Given the description of an element on the screen output the (x, y) to click on. 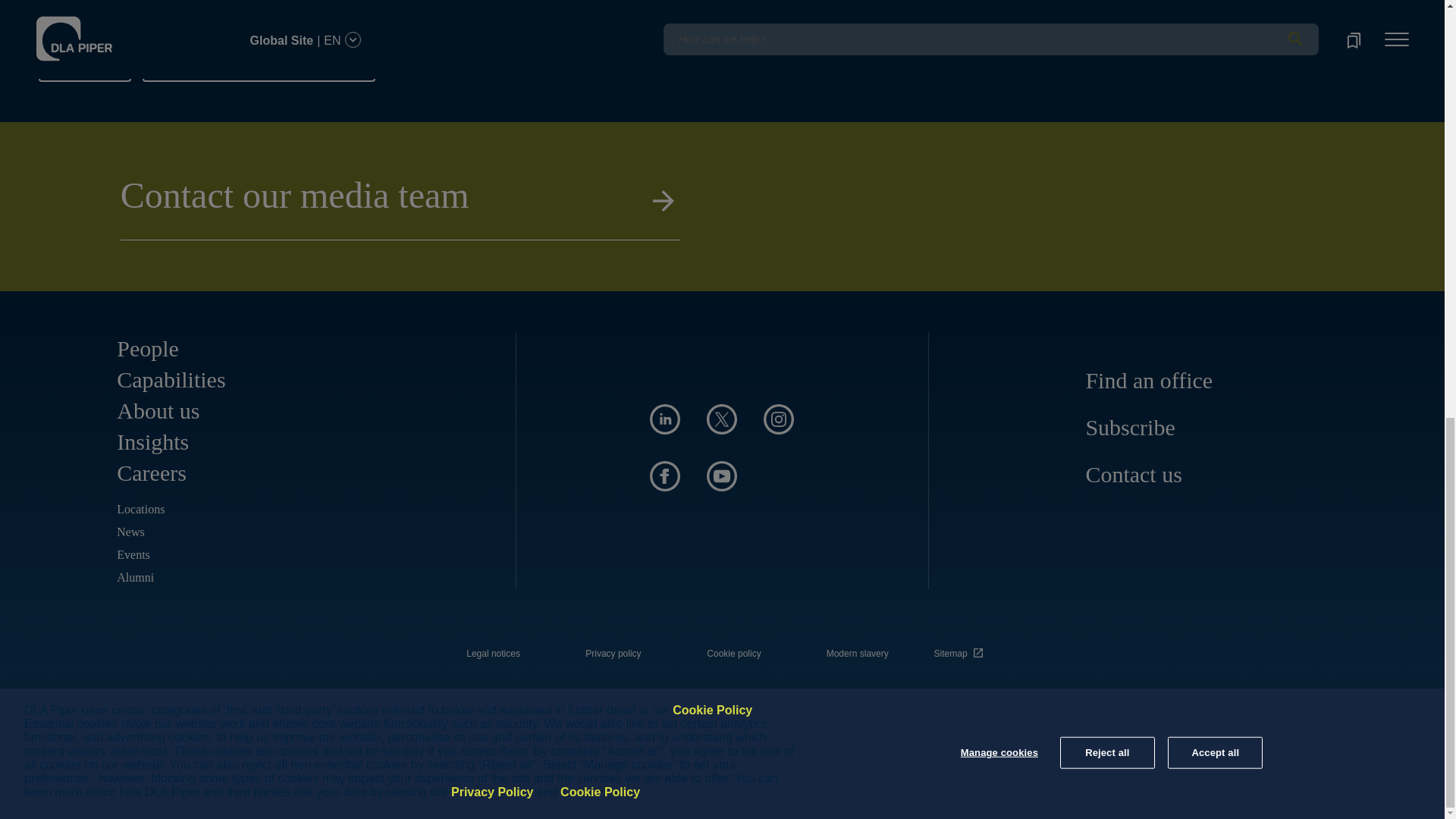
internal (734, 653)
internal (493, 653)
external (960, 649)
internal (612, 653)
internal (857, 653)
